Given the description of an element on the screen output the (x, y) to click on. 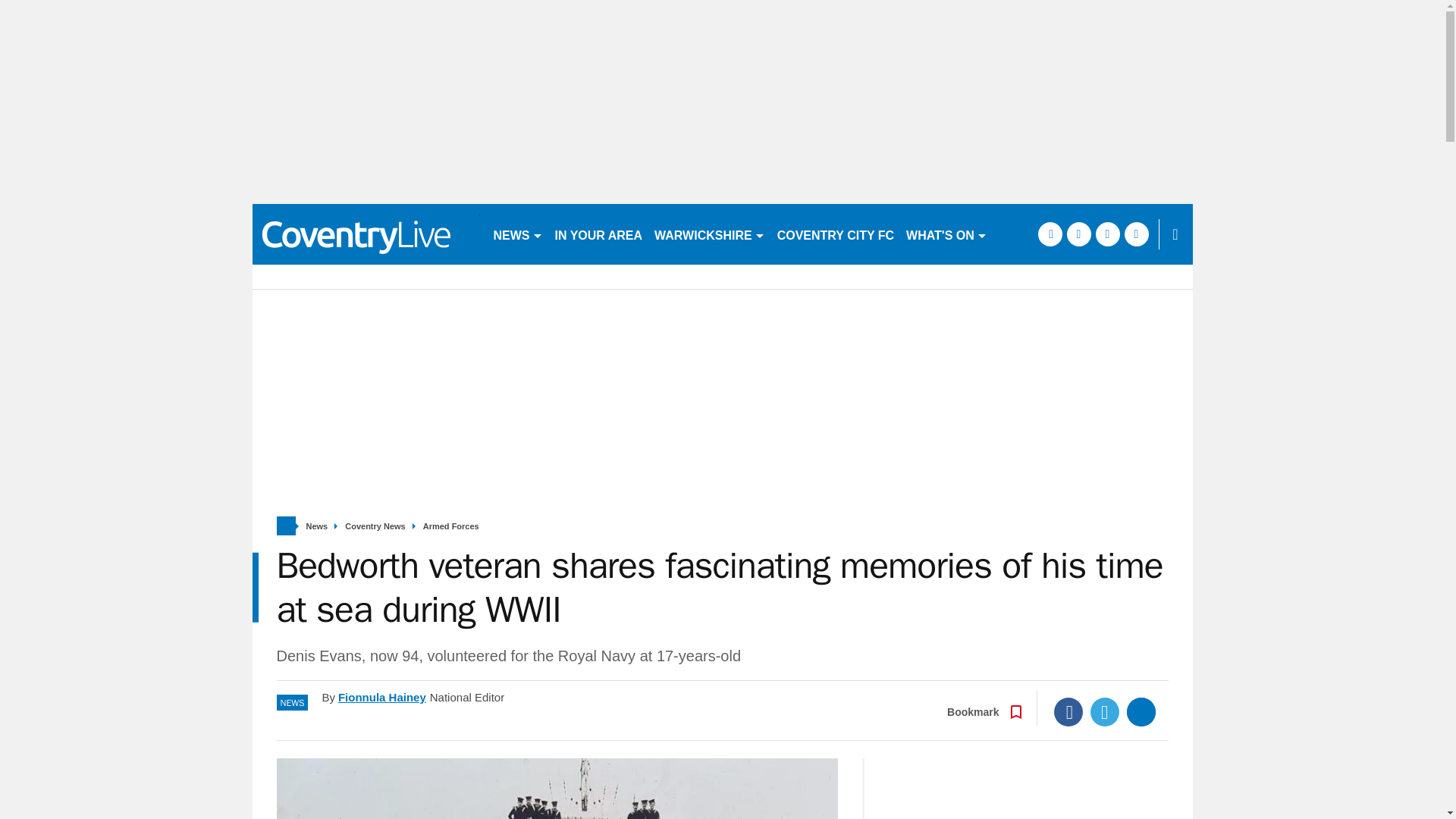
facebook (1083, 294)
WHAT'S ON (945, 233)
instagram (1170, 294)
IN YOUR AREA (598, 233)
twitter (1112, 294)
pinterest (1141, 294)
WARWICKSHIRE (709, 233)
NEWS (517, 233)
coventrytelegraph (365, 233)
Twitter (1104, 756)
